Given the description of an element on the screen output the (x, y) to click on. 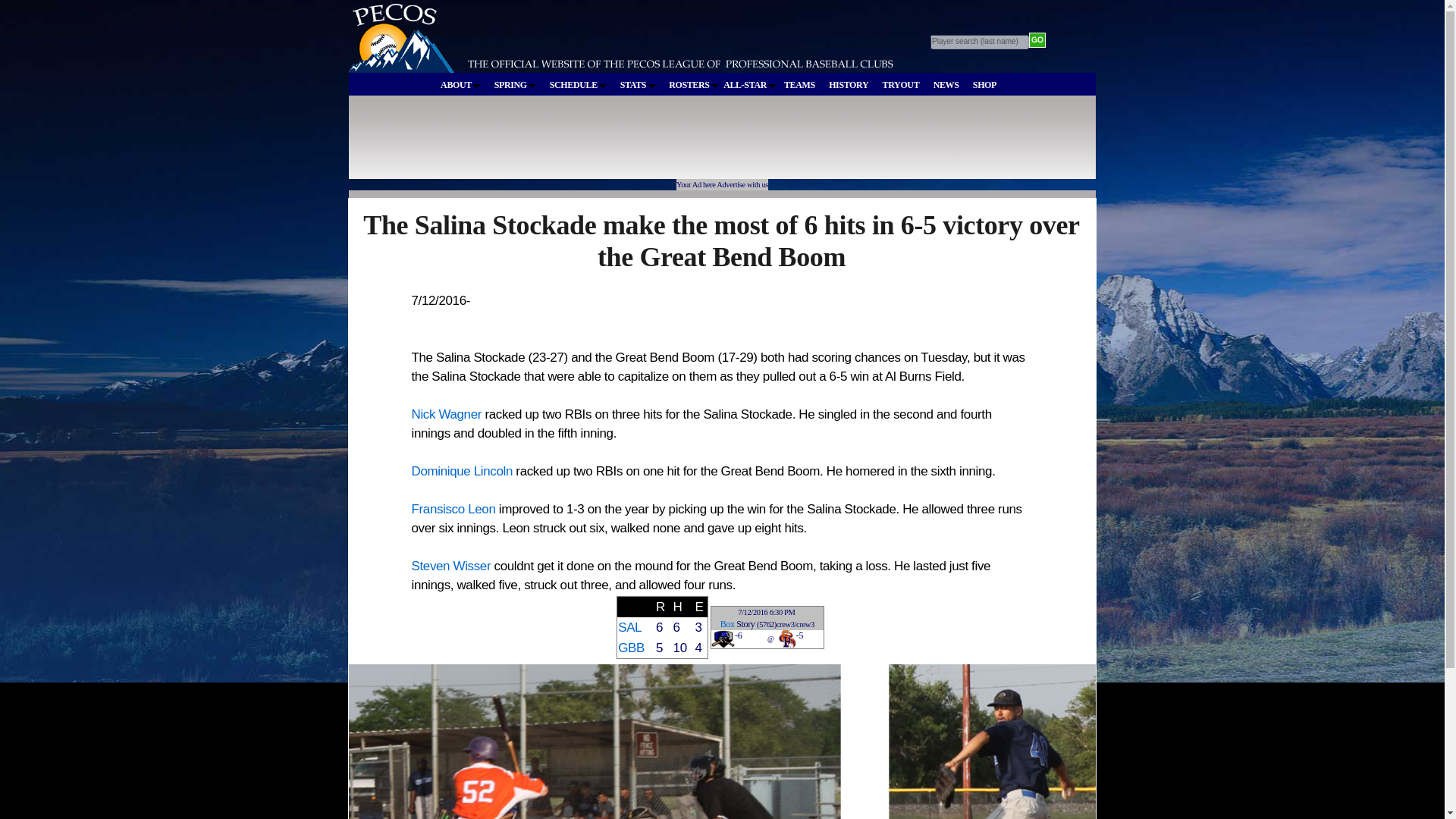
HISTORY (848, 84)
NEWS (945, 84)
TRYOUT (900, 84)
SPRING (515, 84)
SCHEDULE (577, 84)
Advertisement (628, 144)
STATS (637, 84)
SHOP (984, 84)
ROSTERS (693, 84)
ALL-STAR (748, 84)
ABOUT (459, 84)
TEAMS (799, 84)
